Given the description of an element on the screen output the (x, y) to click on. 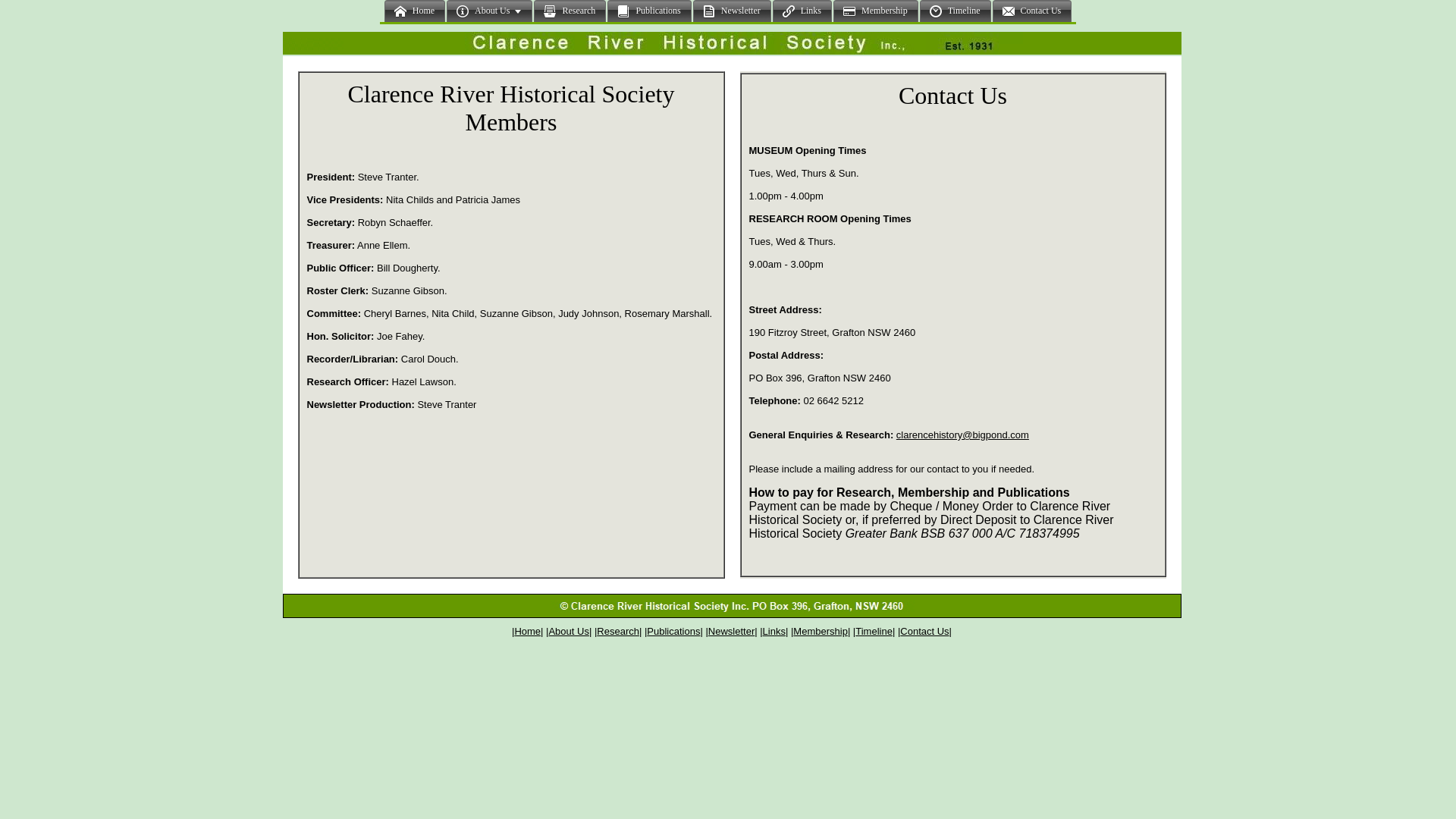
Research Element type: text (617, 630)
Timeline Element type: text (873, 630)
clarencehistory@bigpond.com Element type: text (962, 433)
Newsletter Element type: text (731, 630)
About Us Element type: text (568, 630)
Publications Element type: text (672, 630)
Contact Us Element type: text (924, 630)
Home Element type: text (527, 630)
Membership Element type: text (820, 630)
Contact Us Element type: hover (731, 42)
Links Element type: text (773, 630)
